Given the description of an element on the screen output the (x, y) to click on. 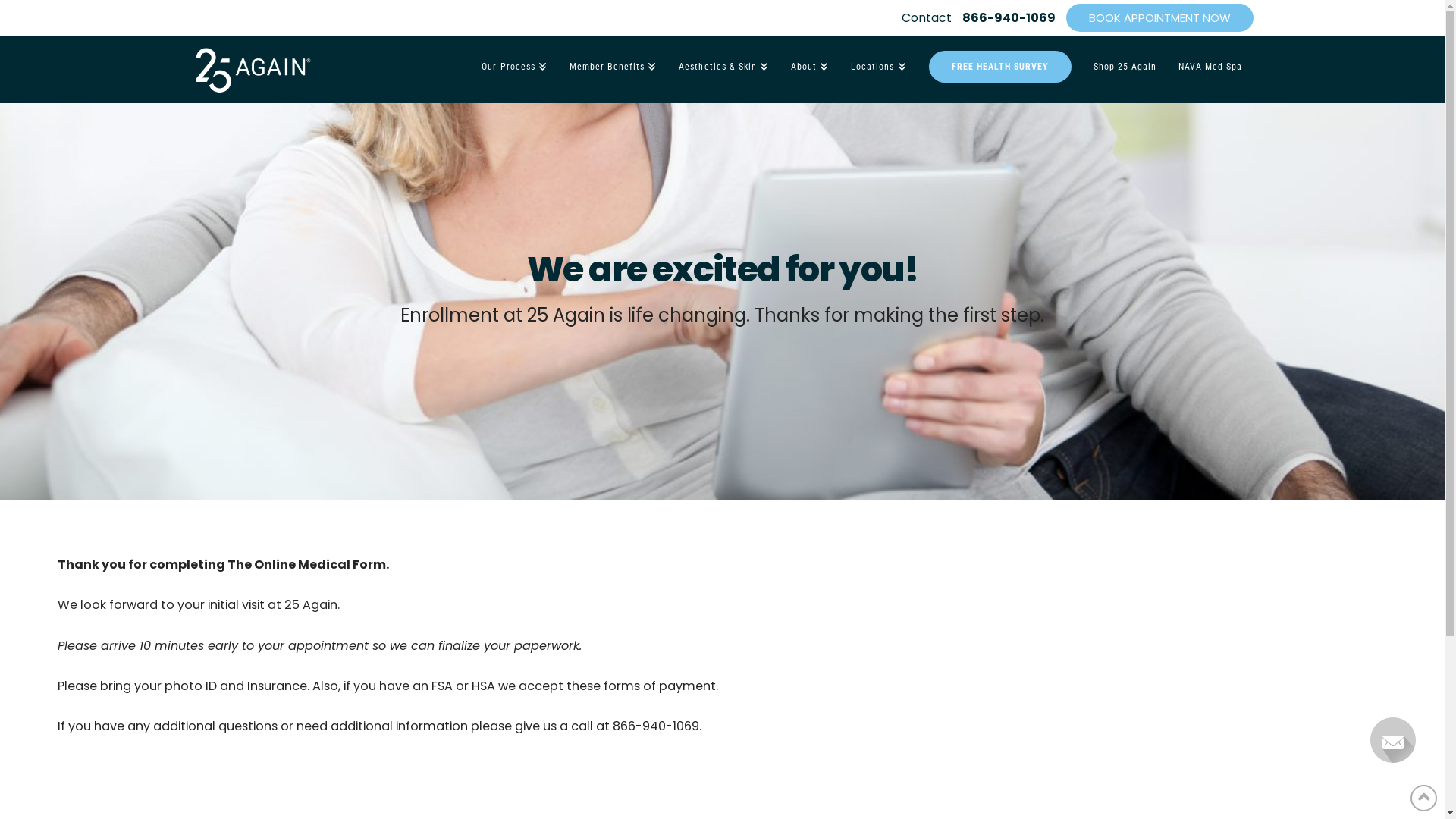
Our Process Element type: text (513, 64)
FREE HEALTH SURVEY Element type: text (999, 64)
Locations Element type: text (877, 64)
Back to Top Element type: hover (1423, 797)
Aesthetics & Skin Element type: text (723, 64)
Shop 25 Again Element type: text (1124, 64)
NAVA Med Spa Element type: text (1209, 64)
About Element type: text (809, 64)
Contact Element type: text (925, 17)
BOOK APPOINTMENT NOW Element type: text (1159, 17)
866-940-1069 Element type: text (1007, 17)
Member Benefits Element type: text (613, 64)
